Given the description of an element on the screen output the (x, y) to click on. 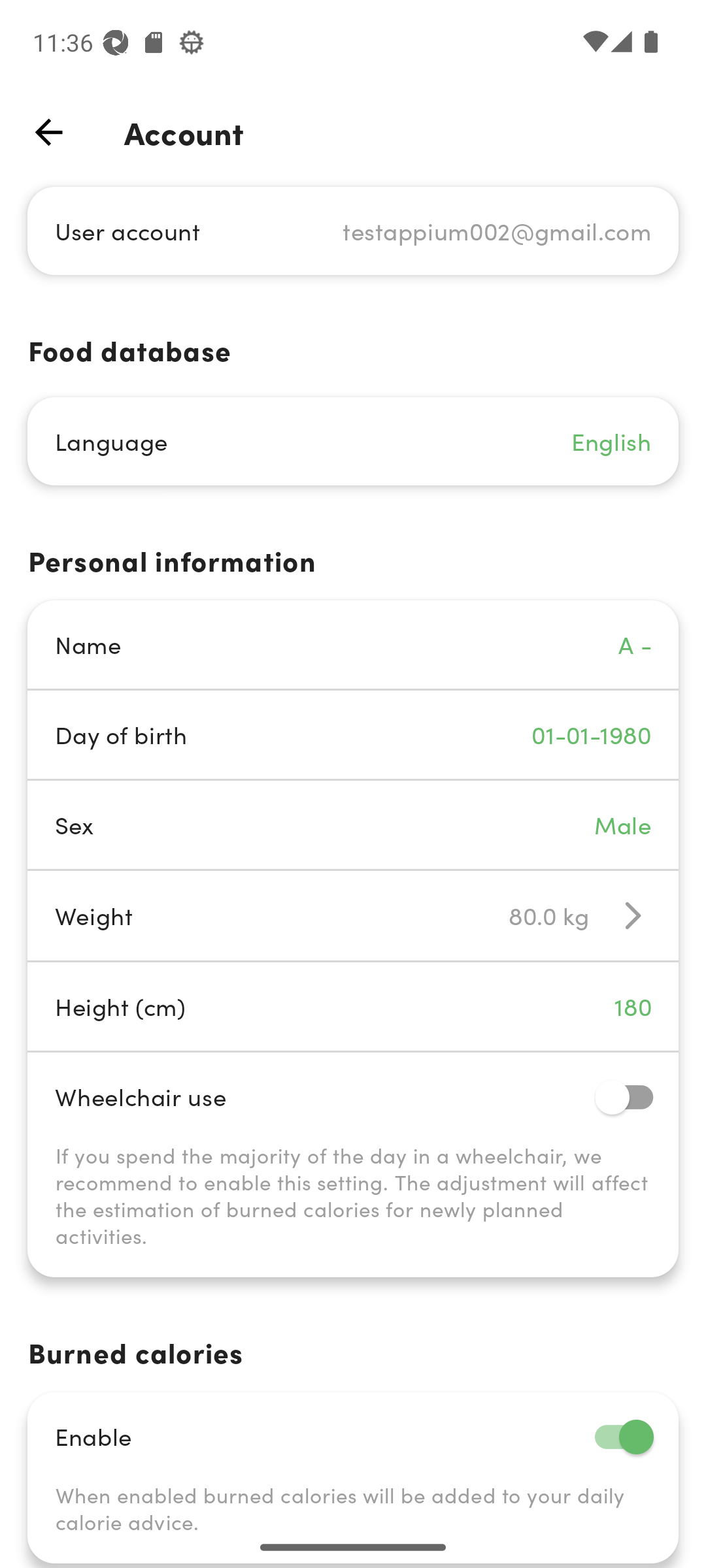
top_left_action (48, 132)
User account testappium002@gmail.com (352, 230)
Language English (352, 441)
Name A - (352, 644)
Day of birth 01-01-1980 (352, 734)
Sex Male (352, 824)
Weight 80.0 kg (352, 914)
Height (cm) 180 (352, 1006)
Wheelchair use (352, 1096)
Enable (352, 1436)
